Given the description of an element on the screen output the (x, y) to click on. 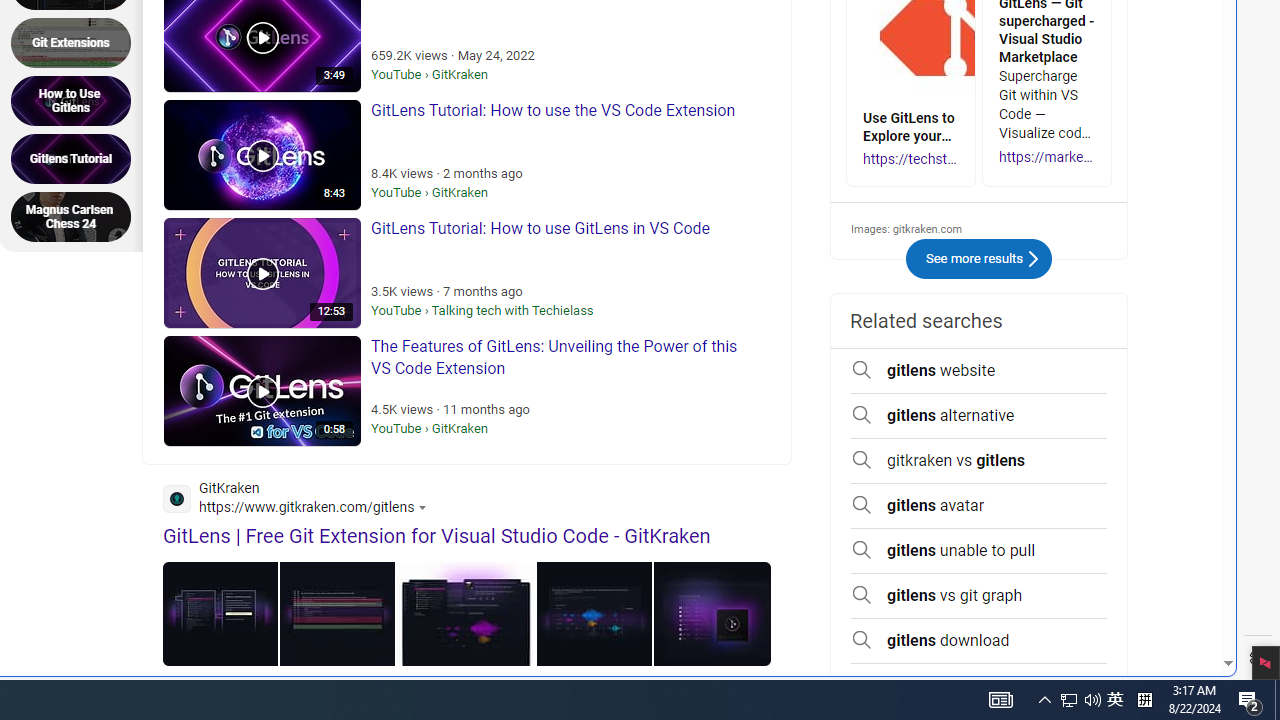
Actions for this site (425, 507)
AutomationID: mfa_root (1153, 603)
GitLens Tutorial: How to use the VS Code Extension (261, 155)
See more results (1032, 259)
GitLens Tutorial: How to use GitLens in VS Code (261, 273)
View details (712, 614)
gitkraken vs gitlens (979, 461)
Gitlens Tutorial (77, 158)
gitlens download (979, 641)
gitlens unable to pull (979, 551)
gitlens avatar (979, 505)
